Given the description of an element on the screen output the (x, y) to click on. 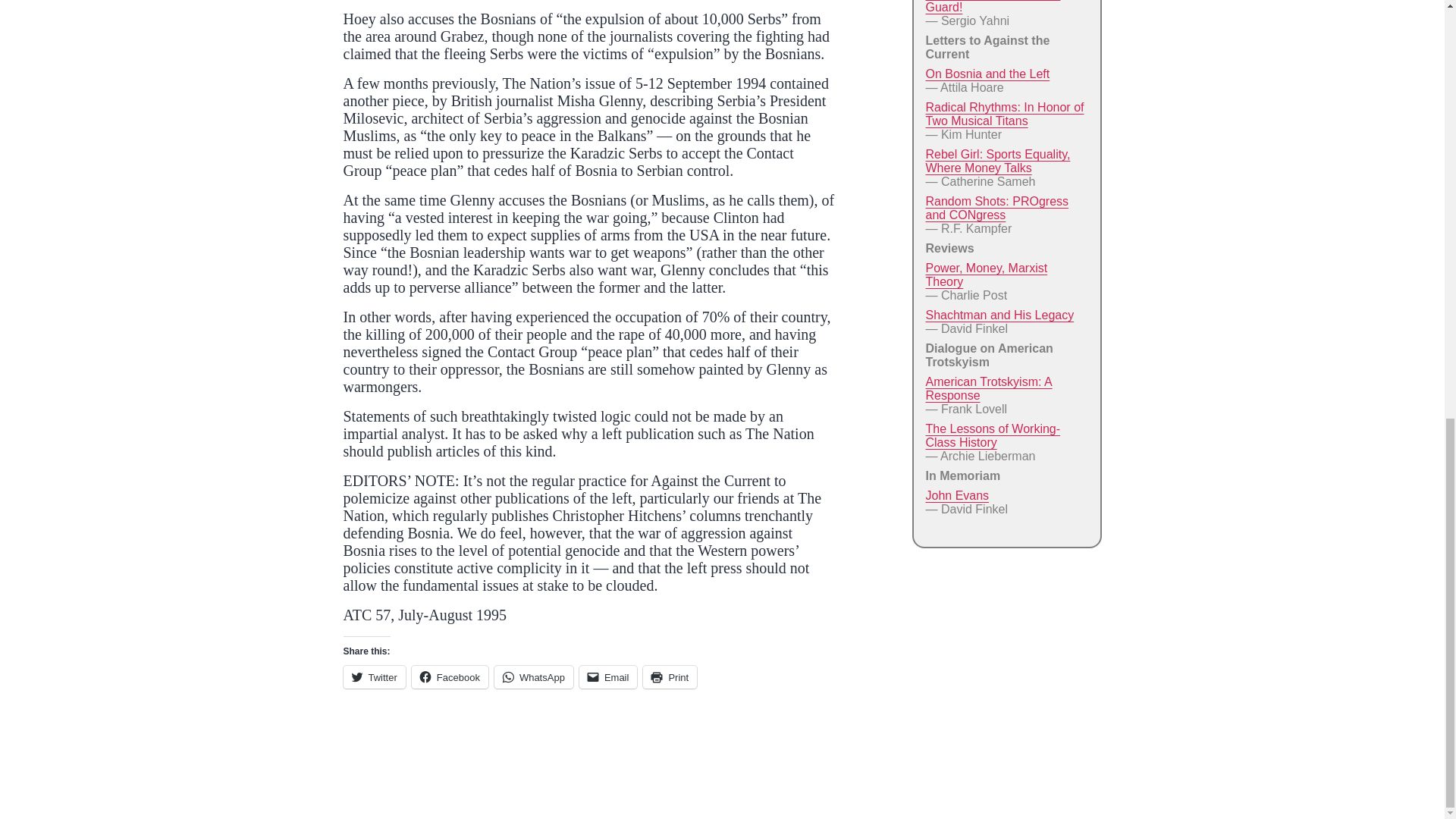
Click to share on Facebook (449, 676)
Click to share on WhatsApp (534, 676)
American Trotskyism: A Response (987, 388)
Click to share on Twitter (373, 676)
Click to print (670, 676)
Radical Rhythms: In Honor of Two Musical Titans (1003, 113)
Open Letter to an Israeli Settler: I Will Not be Your Guard! (991, 6)
Click to email a link to a friend (608, 676)
John Evans (956, 495)
Shachtman and His Legacy (999, 314)
Random Shots: PROgress and CONgress (996, 207)
On Bosnia and the Left (986, 73)
Twitter (373, 676)
Rebel Girl: Sports Equality, Where Money Talks (997, 161)
The Lessons of Working-Class History (991, 435)
